Given the description of an element on the screen output the (x, y) to click on. 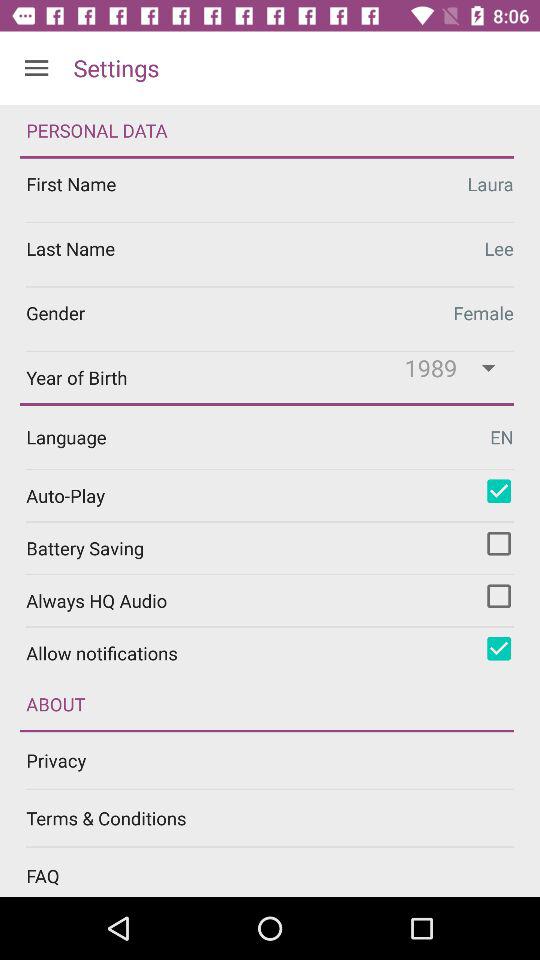
edit last name (270, 254)
